Given the description of an element on the screen output the (x, y) to click on. 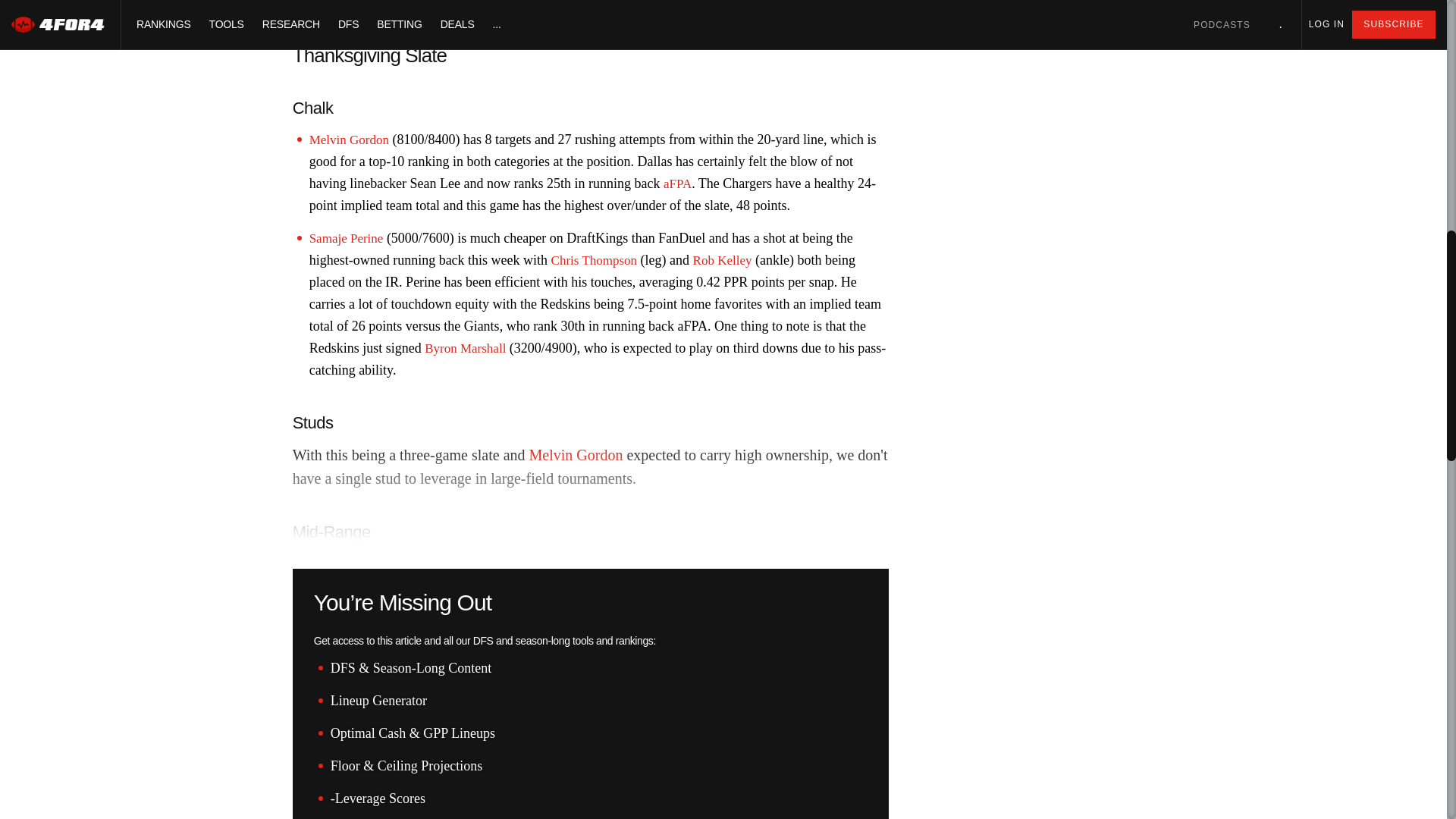
aFPA (677, 183)
